Given the description of an element on the screen output the (x, y) to click on. 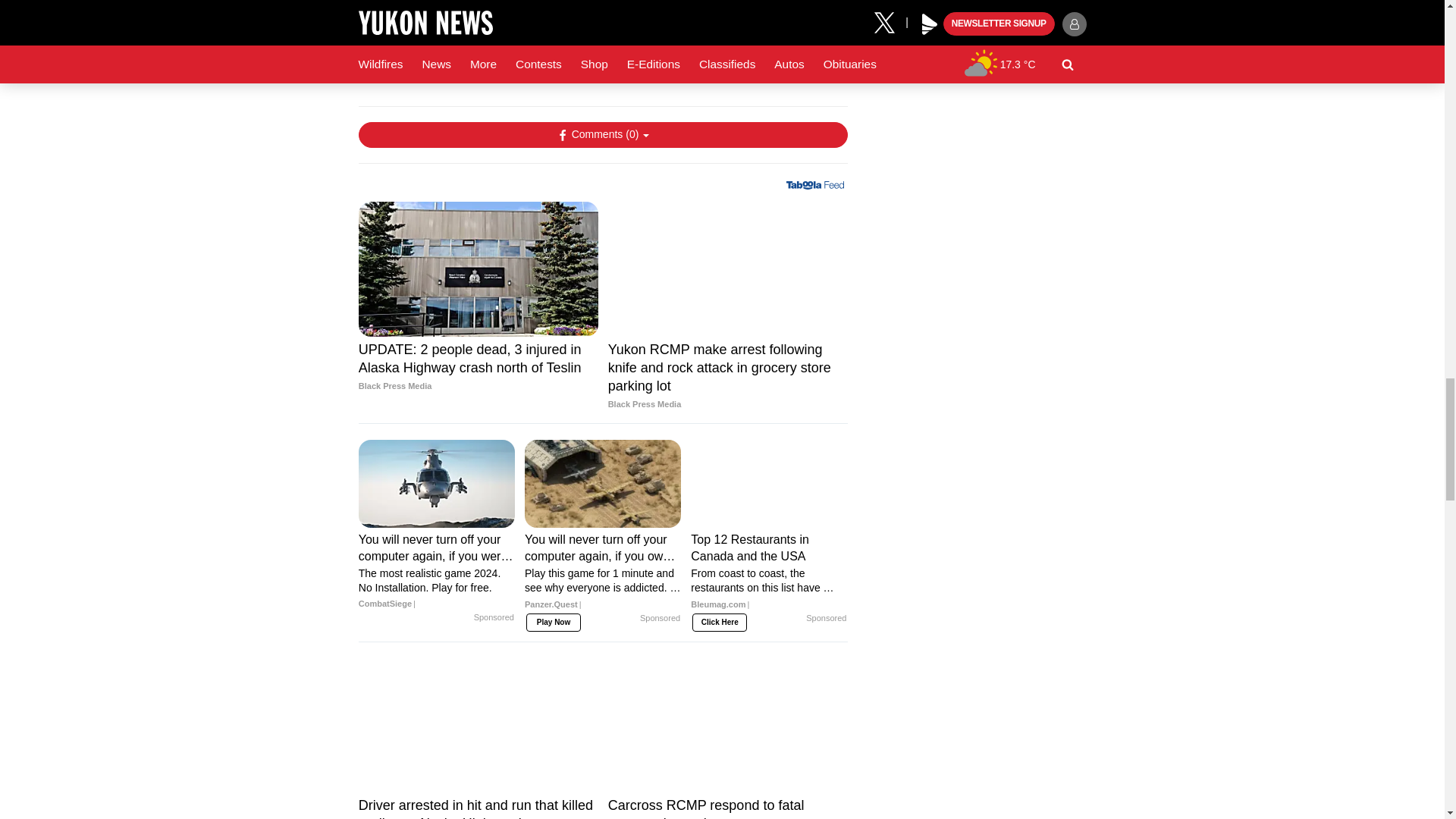
Top 12 Restaurants in Canada and the USA (768, 576)
Carcross RCMP respond to fatal motorcycle crash (727, 807)
Show Comments (602, 135)
